Given the description of an element on the screen output the (x, y) to click on. 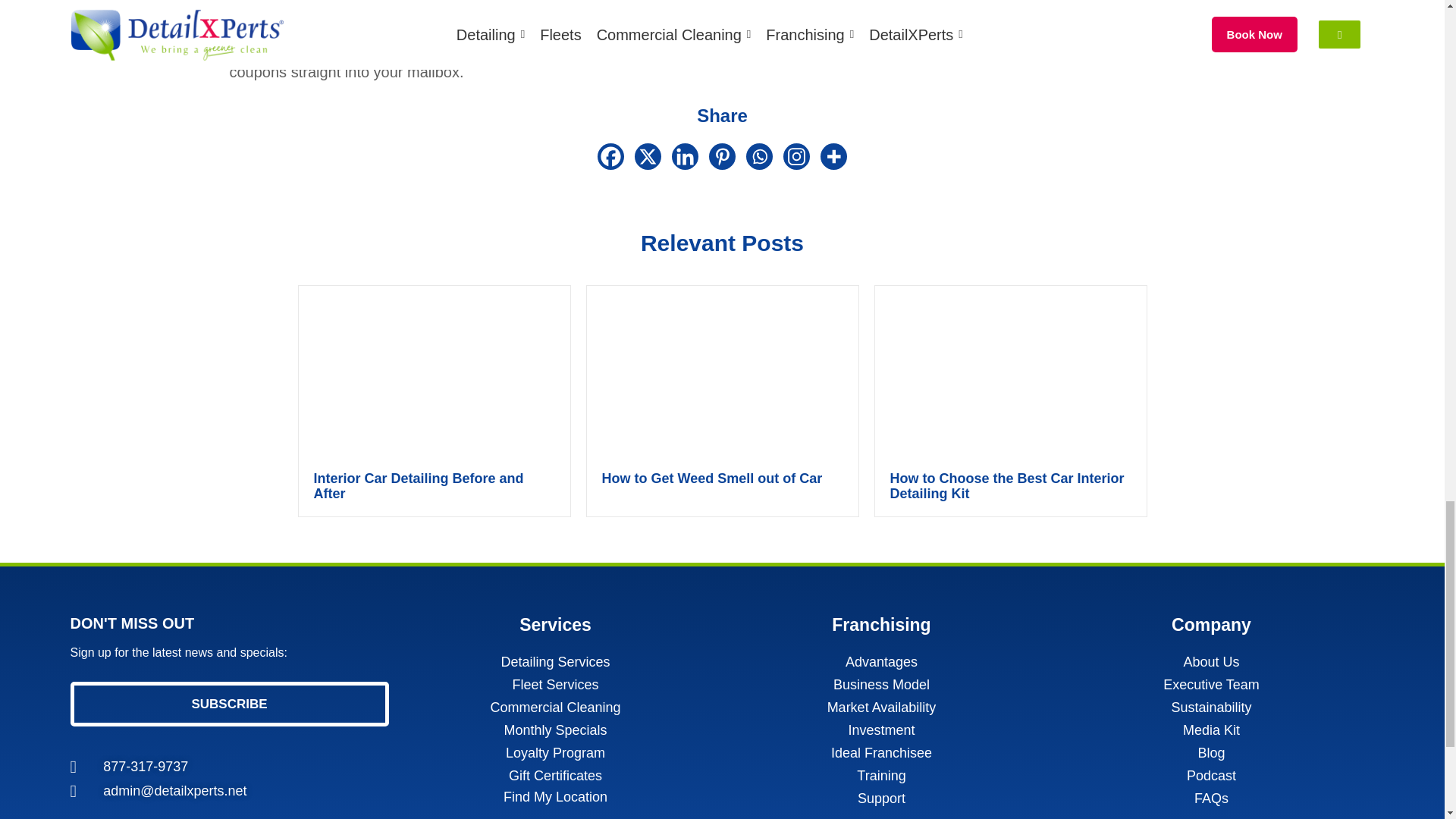
Instagram (796, 156)
Pinterest (722, 156)
More (834, 156)
Linkedin (684, 156)
Whatsapp (759, 156)
X (647, 156)
Facebook (610, 156)
